Given the description of an element on the screen output the (x, y) to click on. 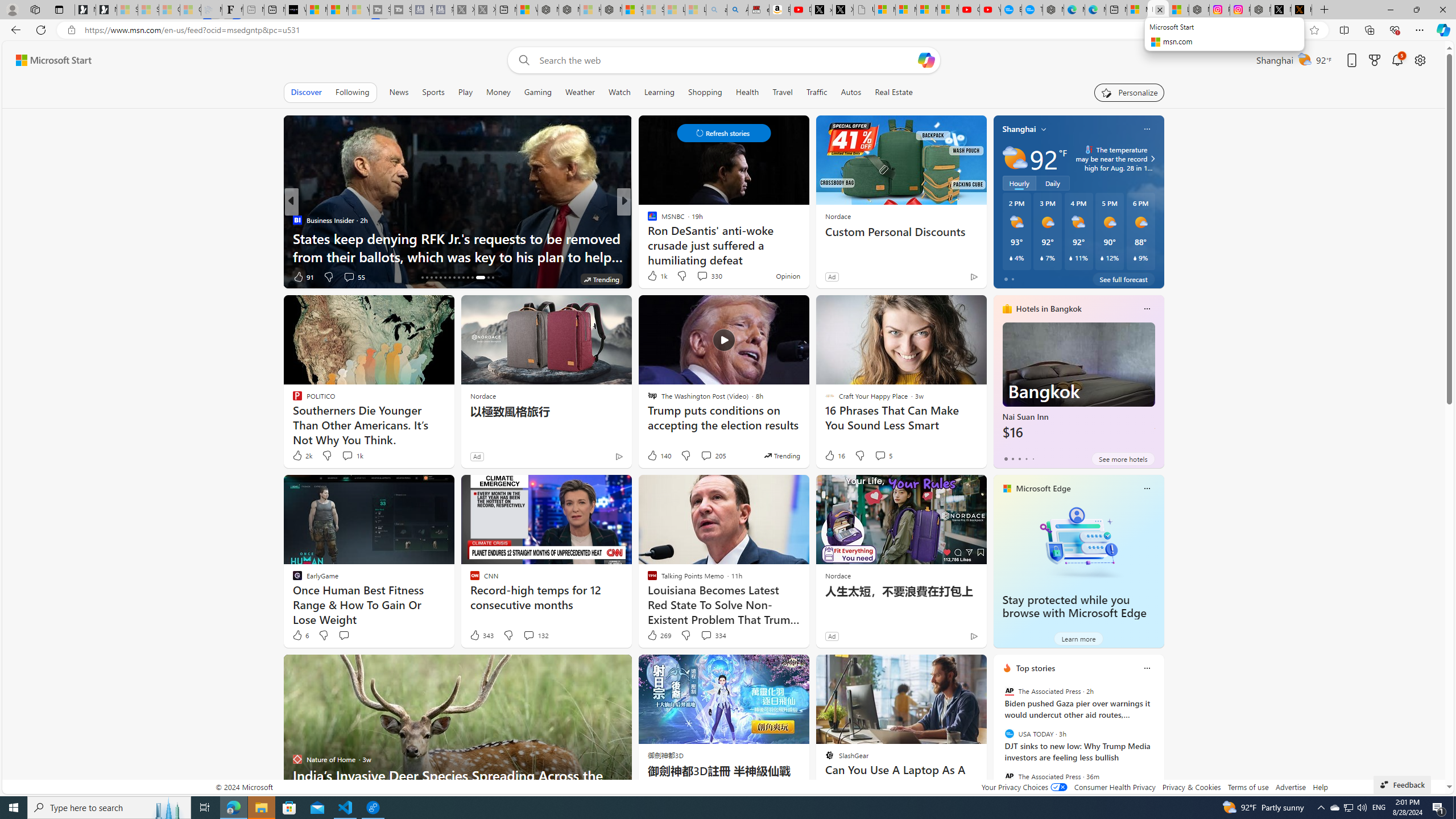
Class: icon-img (1146, 668)
Top stories (1035, 668)
Class: weather-current-precipitation-glyph (1134, 257)
91 Like (303, 276)
343 Like (480, 634)
Stay protected while you browse with Microsoft Edge (1074, 606)
Advertise (1290, 786)
Hide this story (952, 668)
Your Privacy Choices (1024, 786)
